Given the description of an element on the screen output the (x, y) to click on. 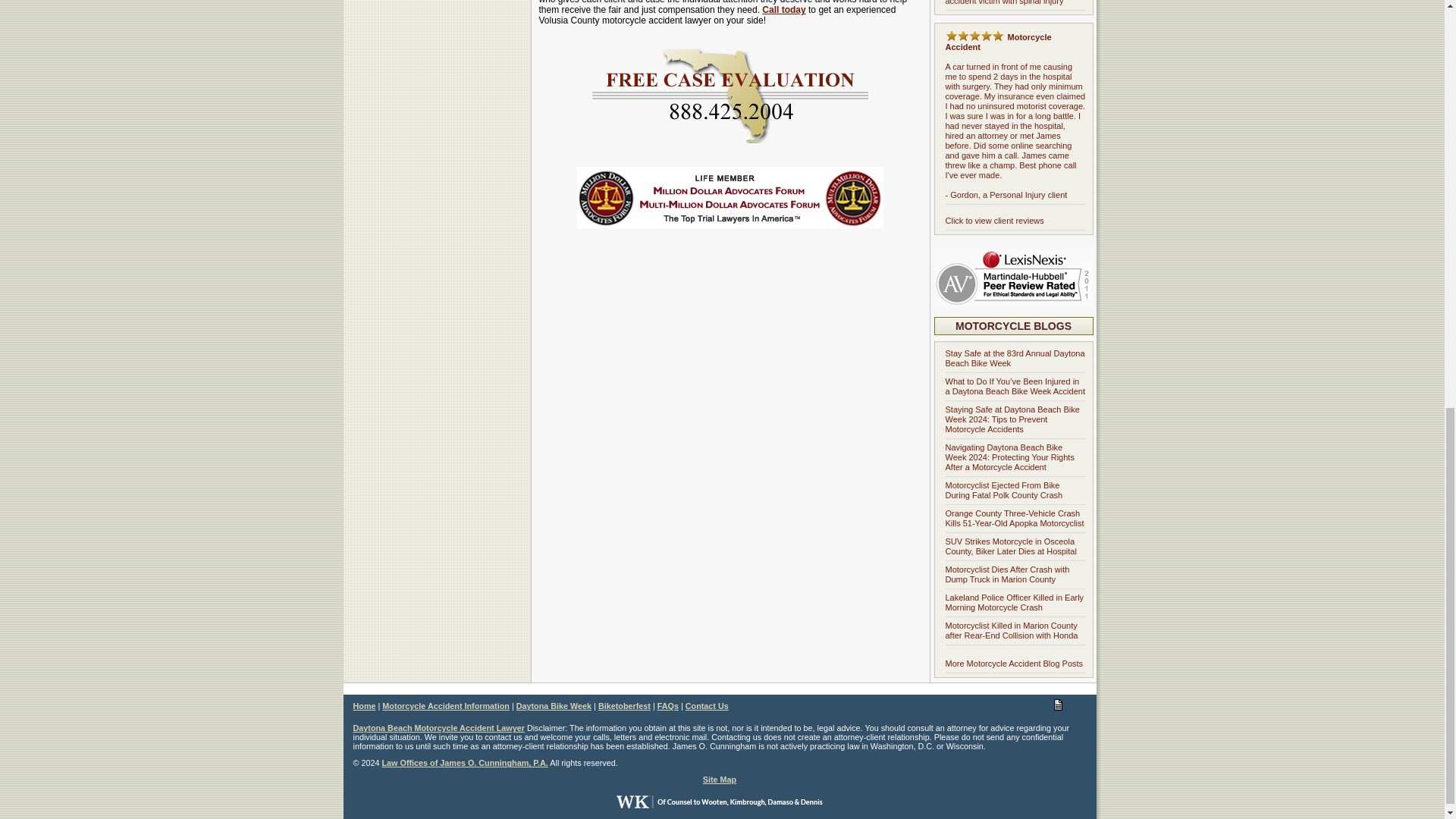
More Motorcycle Accident Blog Posts (1013, 663)
MOTORCYCLE BLOGS (1013, 326)
Read Motorcycle Accident Blogs (1013, 326)
Click to view client reviews (993, 220)
Stay Safe at the 83rd Annual Daytona Beach Bike Week (1014, 357)
Call today (783, 9)
